Given the description of an element on the screen output the (x, y) to click on. 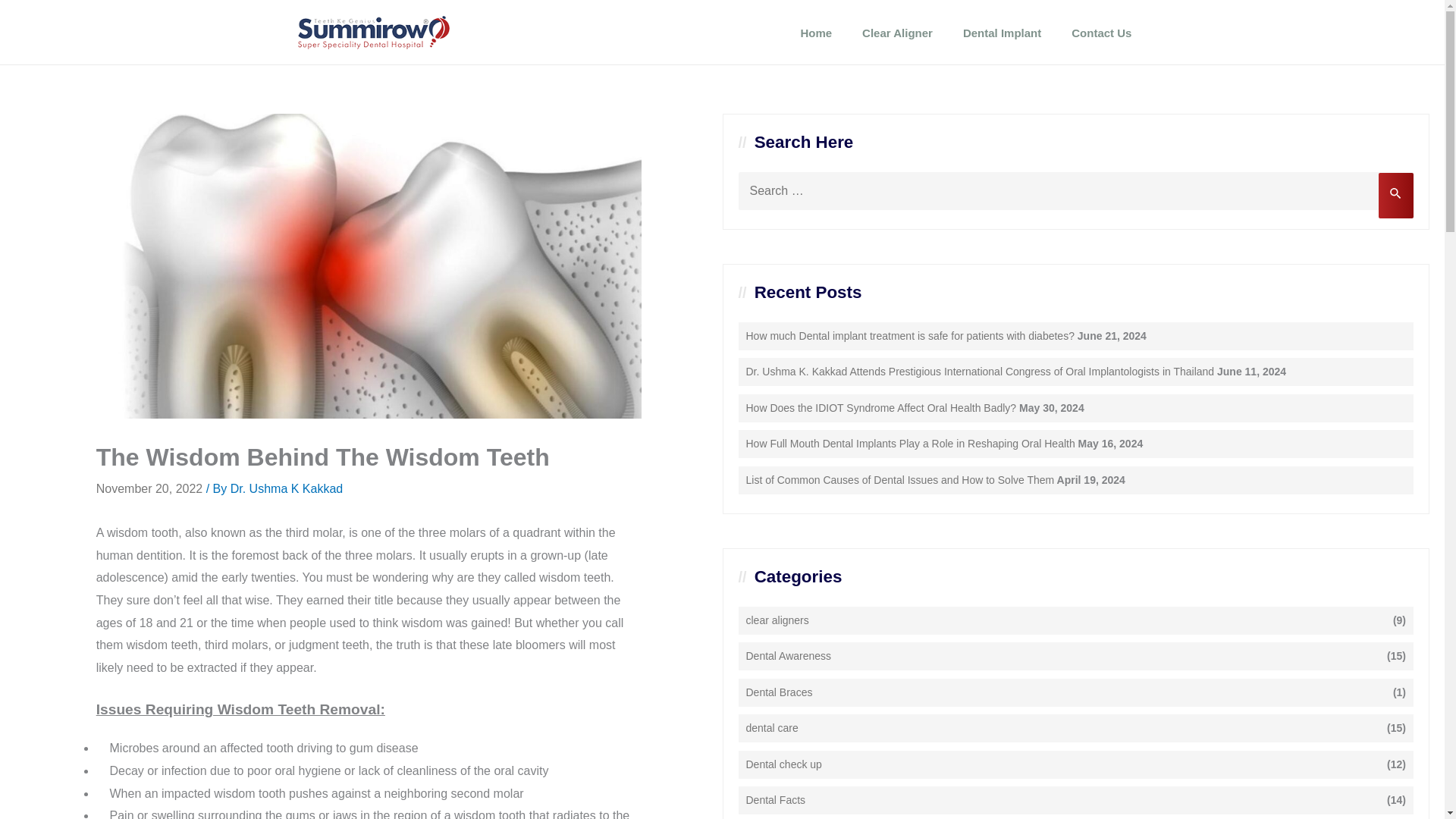
Home (815, 32)
Dental Awareness (788, 656)
Dental Braces (778, 692)
Dental check up (783, 764)
Dental Implant (1002, 32)
View all posts by Dr. Ushma K Kakkad (286, 488)
dental care (771, 728)
Clear Aligner (897, 32)
Dental Facts (775, 800)
How Does the IDIOT Syndrome Affect Oral Health Badly? (880, 408)
List of Common Causes of Dental Issues and How to Solve Them (899, 480)
Contact Us (1102, 32)
clear aligners (777, 620)
